Given the description of an element on the screen output the (x, y) to click on. 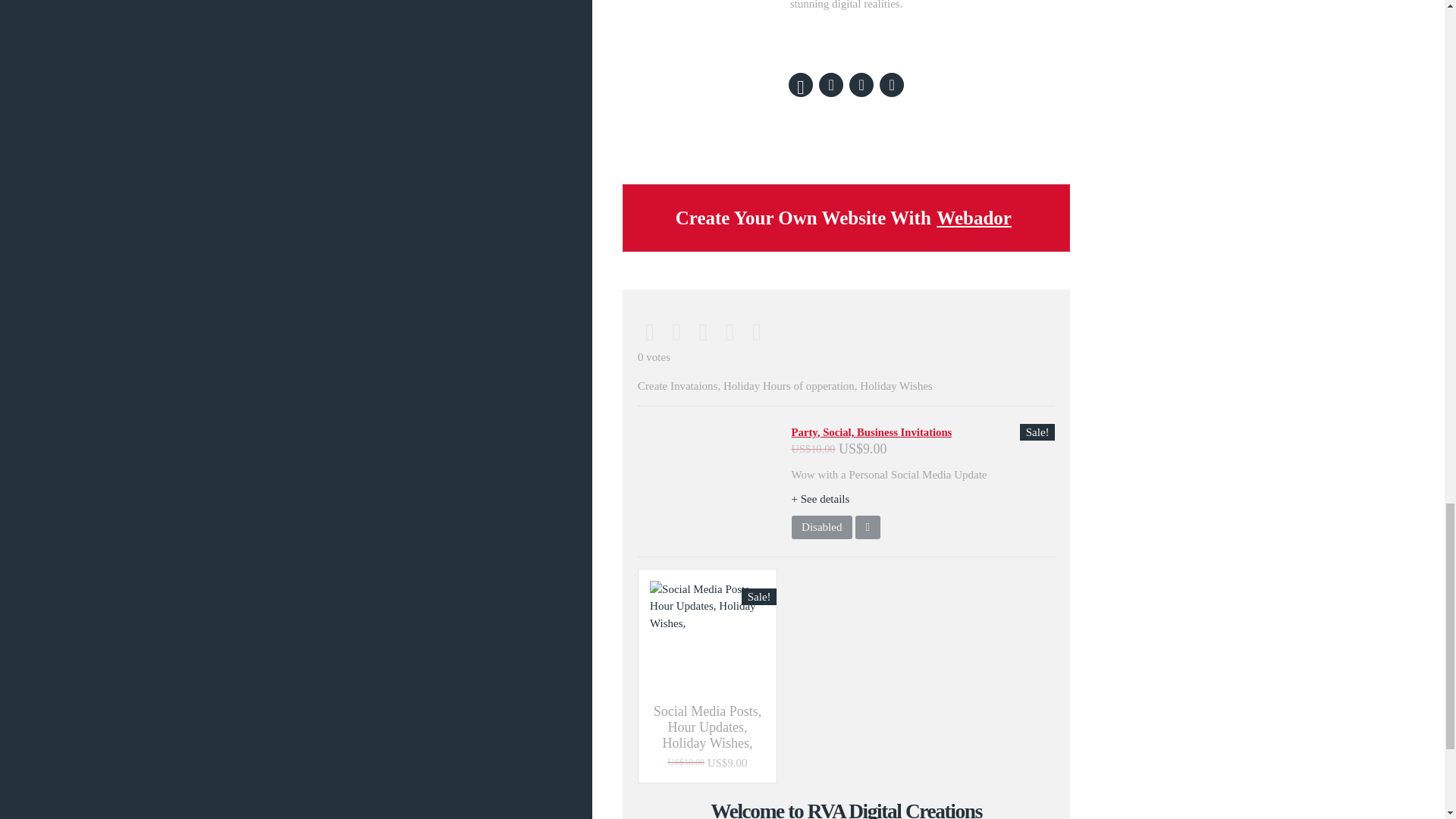
2 stars (676, 331)
Disabled (821, 527)
3 stars (703, 331)
Disabled (821, 527)
Social Media Posts, Hour Updates, Holiday Wishes, (707, 727)
Add to wishlist (868, 527)
5 stars (756, 331)
4 stars (729, 331)
1 star (649, 331)
Party, Social, Business Invitations (872, 431)
